Given the description of an element on the screen output the (x, y) to click on. 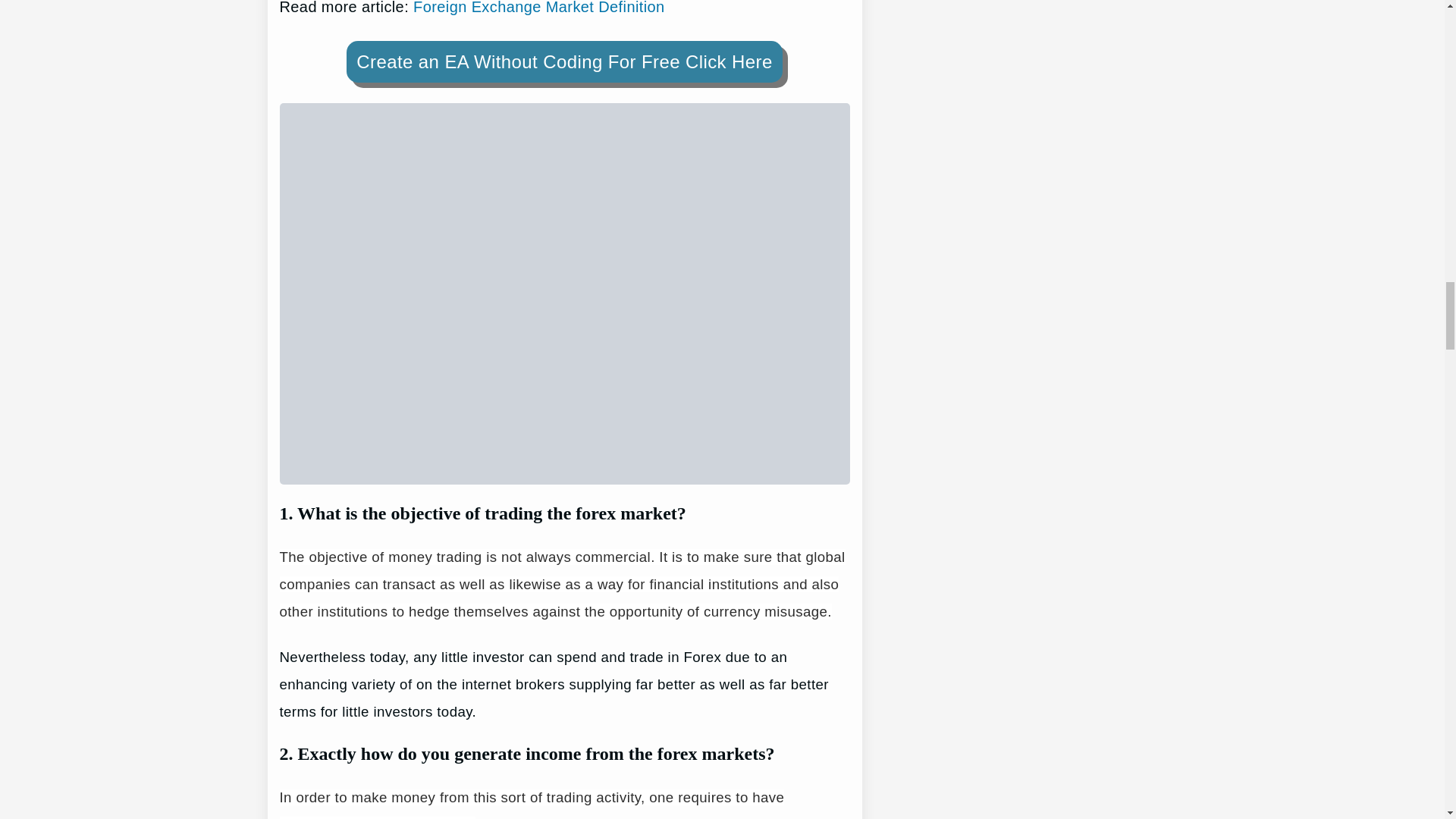
Foreign Exchange Market Definition (539, 7)
Create an EA Without Coding For Free Click Here (563, 61)
